Given the description of an element on the screen output the (x, y) to click on. 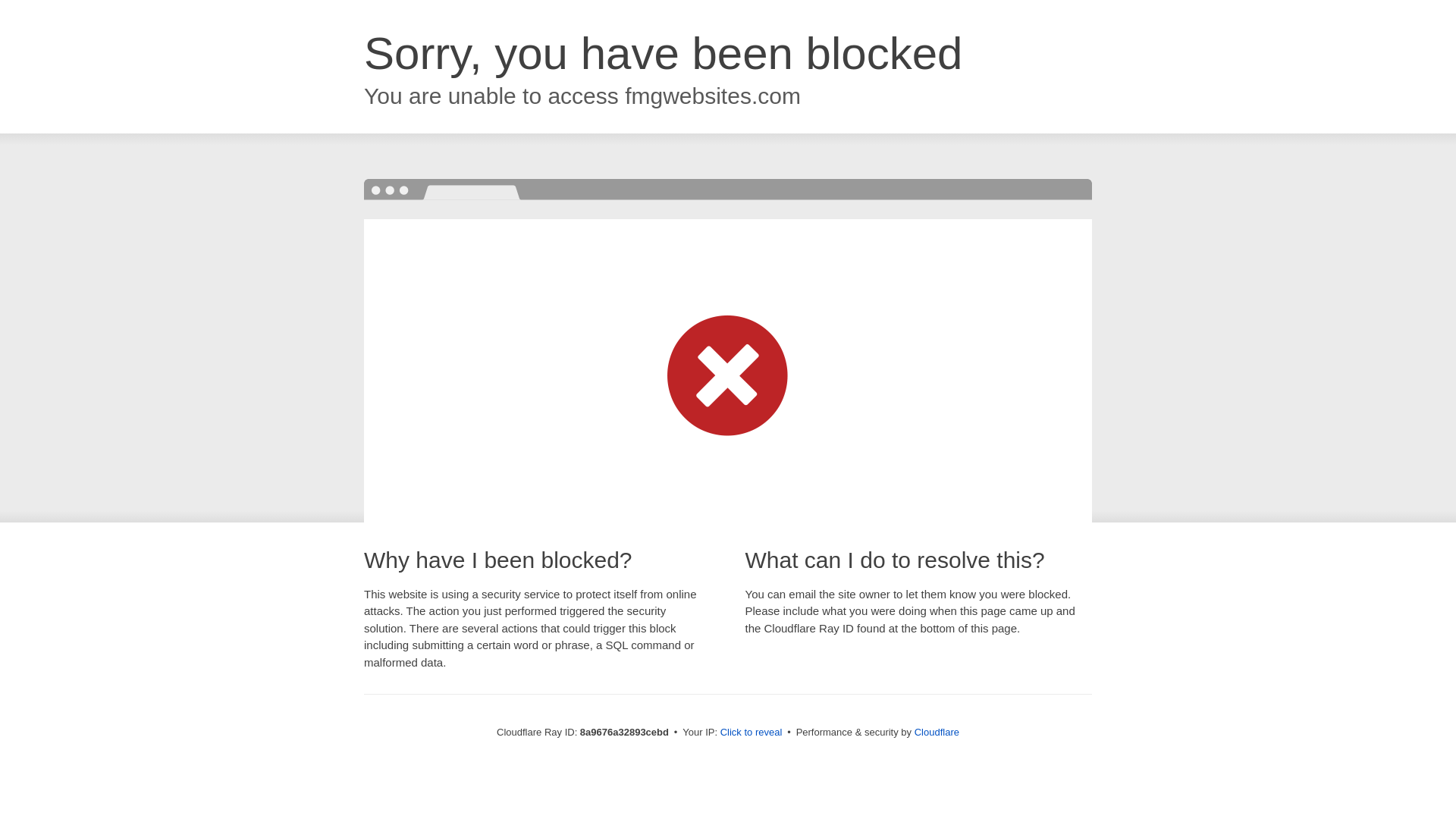
Click to reveal (751, 732)
Cloudflare (936, 731)
